Given the description of an element on the screen output the (x, y) to click on. 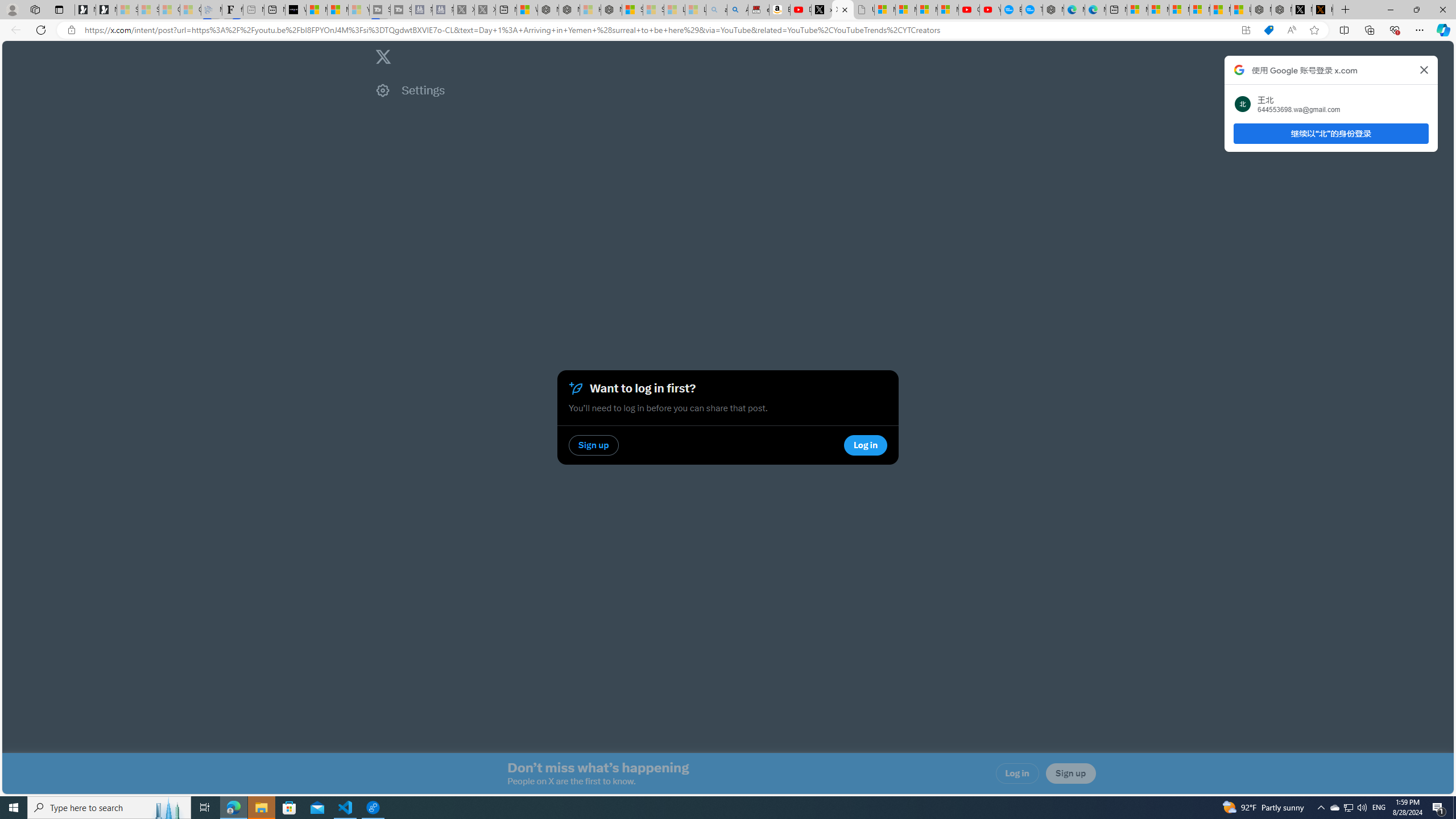
Nordace - Nordace Siena Is Not An Ordinary Backpack (610, 9)
